Given the description of an element on the screen output the (x, y) to click on. 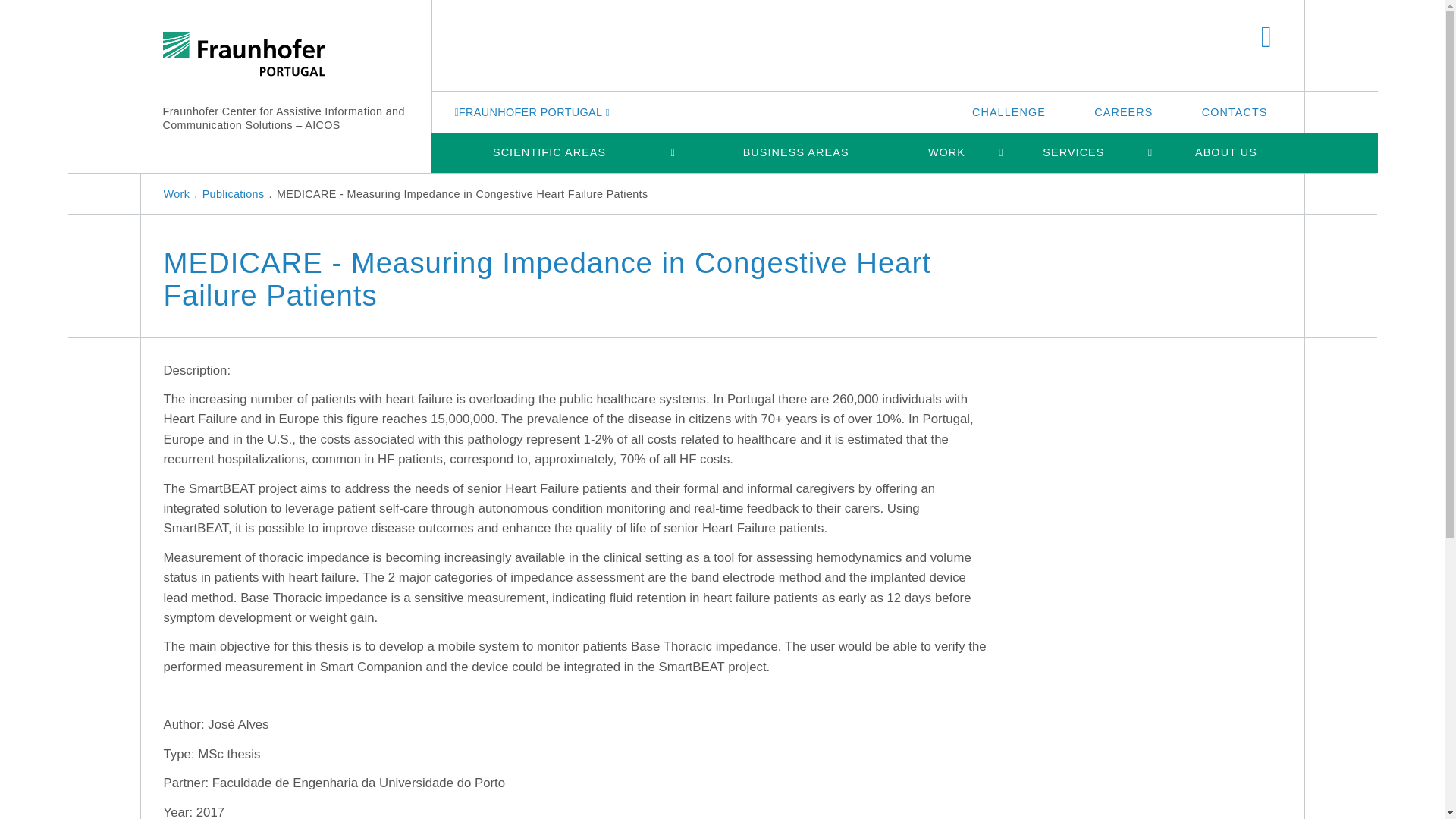
WORK (946, 151)
SCIENTIFIC AREAS (548, 151)
CHALLENGE (1008, 111)
CAREERS (1122, 111)
ABOUT US (1225, 151)
CONTACTS (1234, 111)
FRAUNHOFER PORTUGAL (534, 111)
SERVICES (1073, 151)
BUSINESS AREAS (794, 151)
SEARCH (1266, 37)
